Given the description of an element on the screen output the (x, y) to click on. 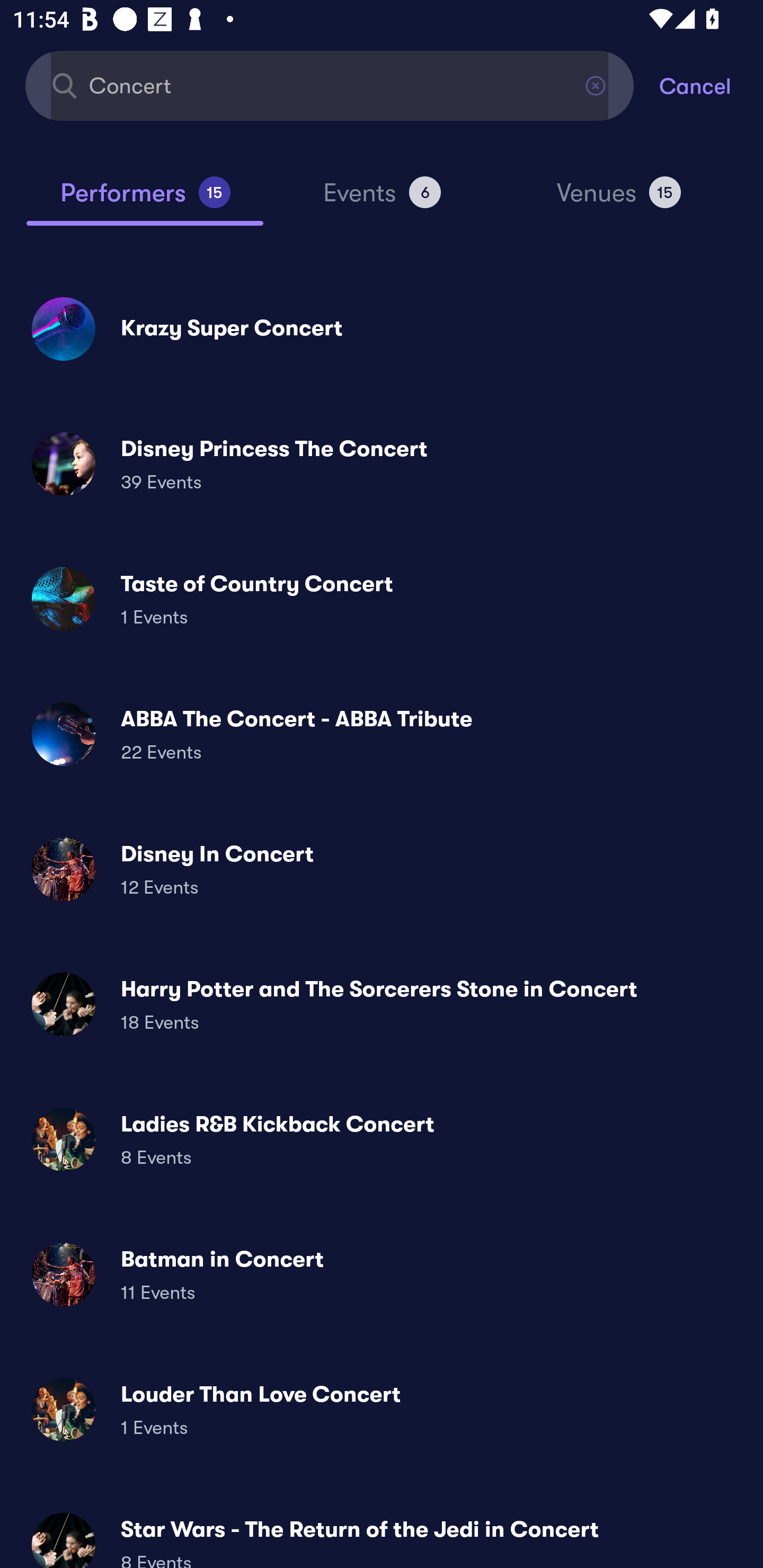
Concert Find (329, 85)
Concert Find (329, 85)
Cancel (711, 85)
Performers 15 (144, 200)
Events 6 (381, 200)
Venues 15 (618, 200)
Krazy Super Concert (381, 328)
Disney Princess The Concert 39 Events (381, 464)
Taste of Country Concert 1 Events (381, 598)
ABBA The Concert - ABBA Tribute 22 Events (381, 734)
Disney In Concert 12 Events (381, 869)
Ladies R&B Kickback Concert 8 Events (381, 1138)
Batman in Concert 11 Events (381, 1273)
Louder Than Love Concert 1 Events (381, 1409)
